Given the description of an element on the screen output the (x, y) to click on. 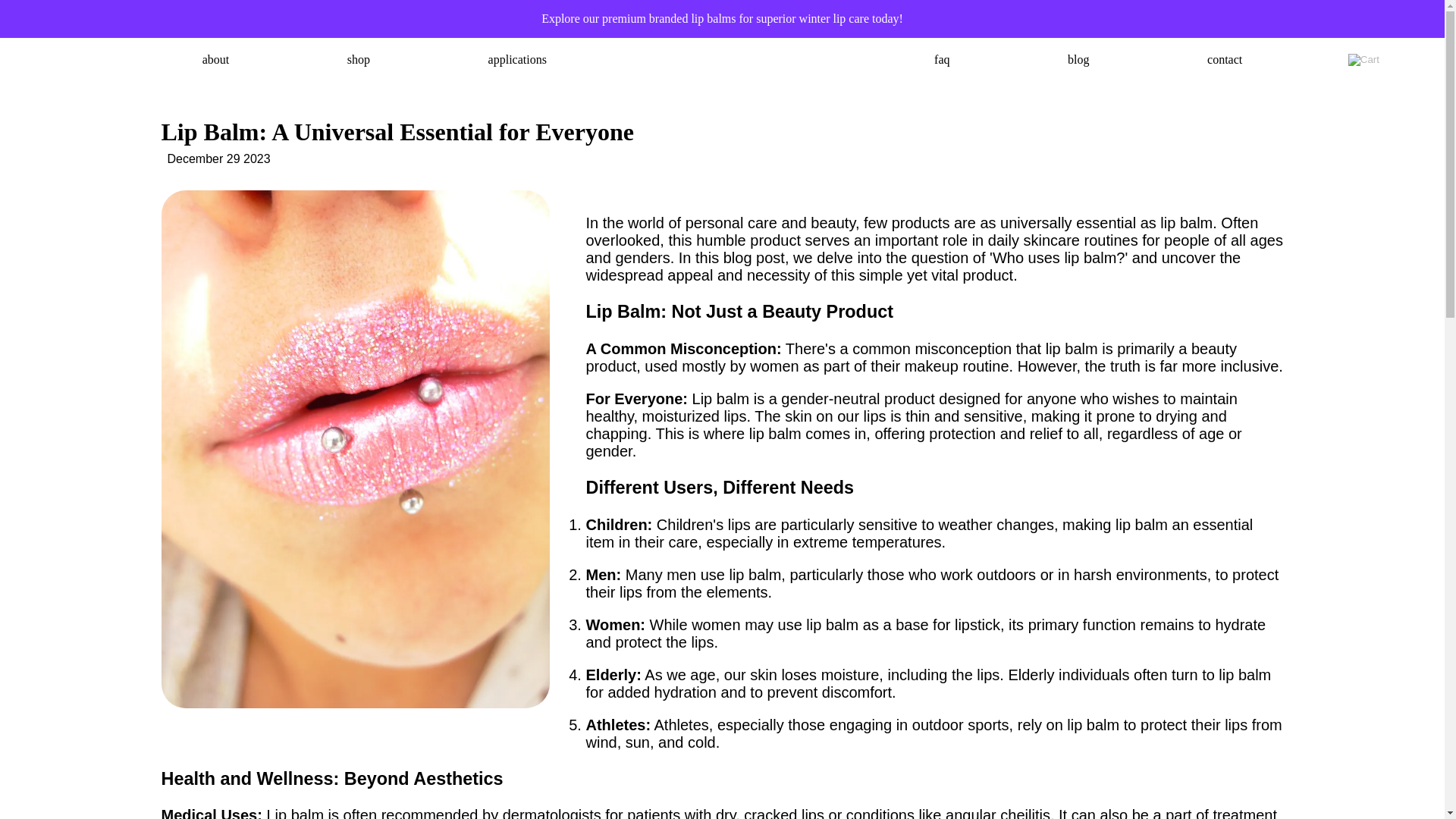
shop (358, 59)
applications (517, 59)
faq (941, 59)
contact (1224, 59)
about (216, 59)
blog (1078, 59)
